Given the description of an element on the screen output the (x, y) to click on. 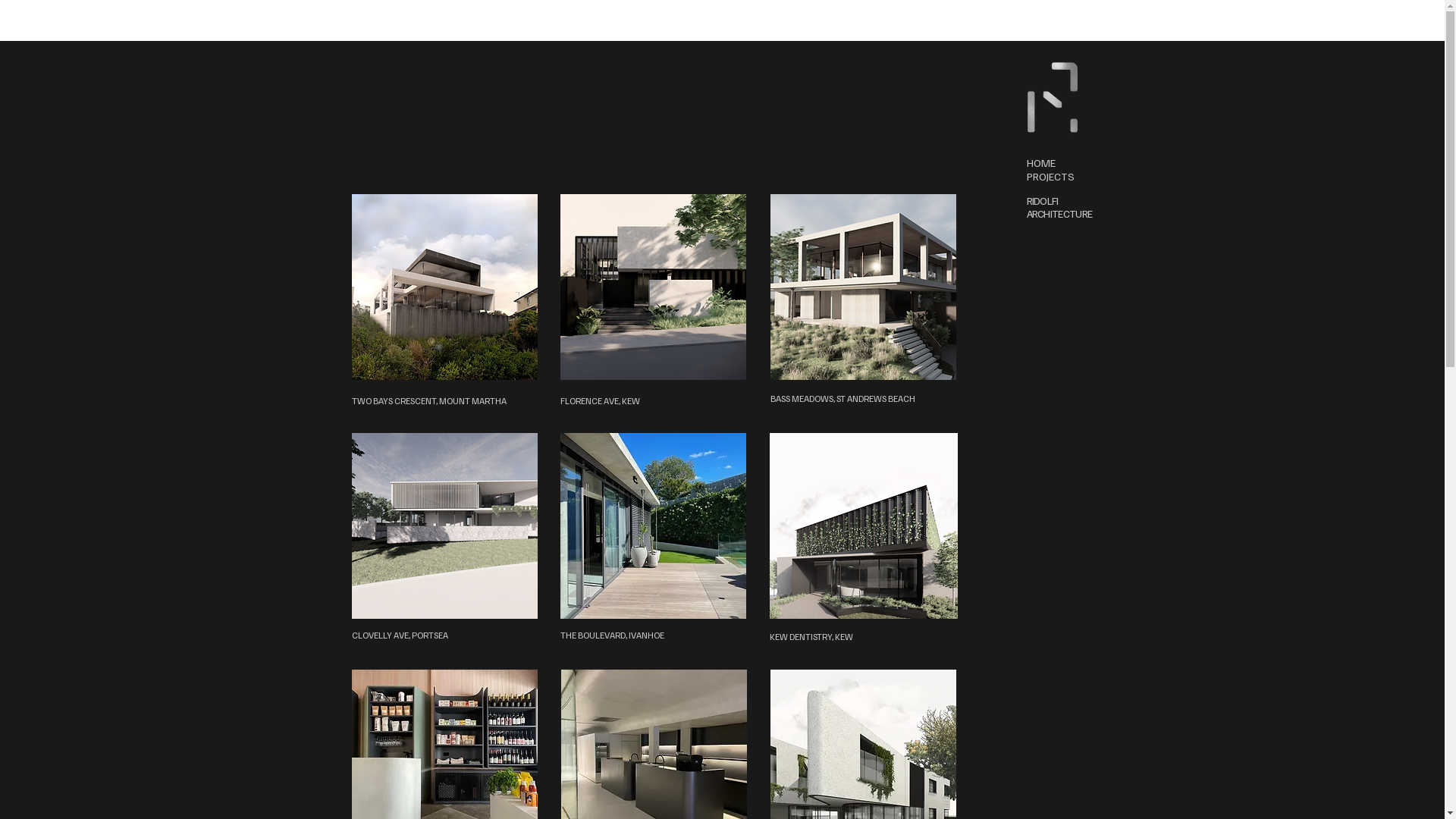
FRONT FACADE 1 WITH SKY - SMALL.png Element type: hover (862, 525)
IMG_0663.jpeg Element type: hover (652, 286)
FRONT FACADE 1 WITH SKY - SMALL.png Element type: hover (652, 525)
Ridolfi Logo_edited.png Element type: hover (1051, 98)
retrogradation.jpg Element type: hover (444, 286)
HOME Element type: text (1055, 162)
PROJECTS Element type: text (1055, 176)
 .jpg Element type: hover (863, 286)
